Given the description of an element on the screen output the (x, y) to click on. 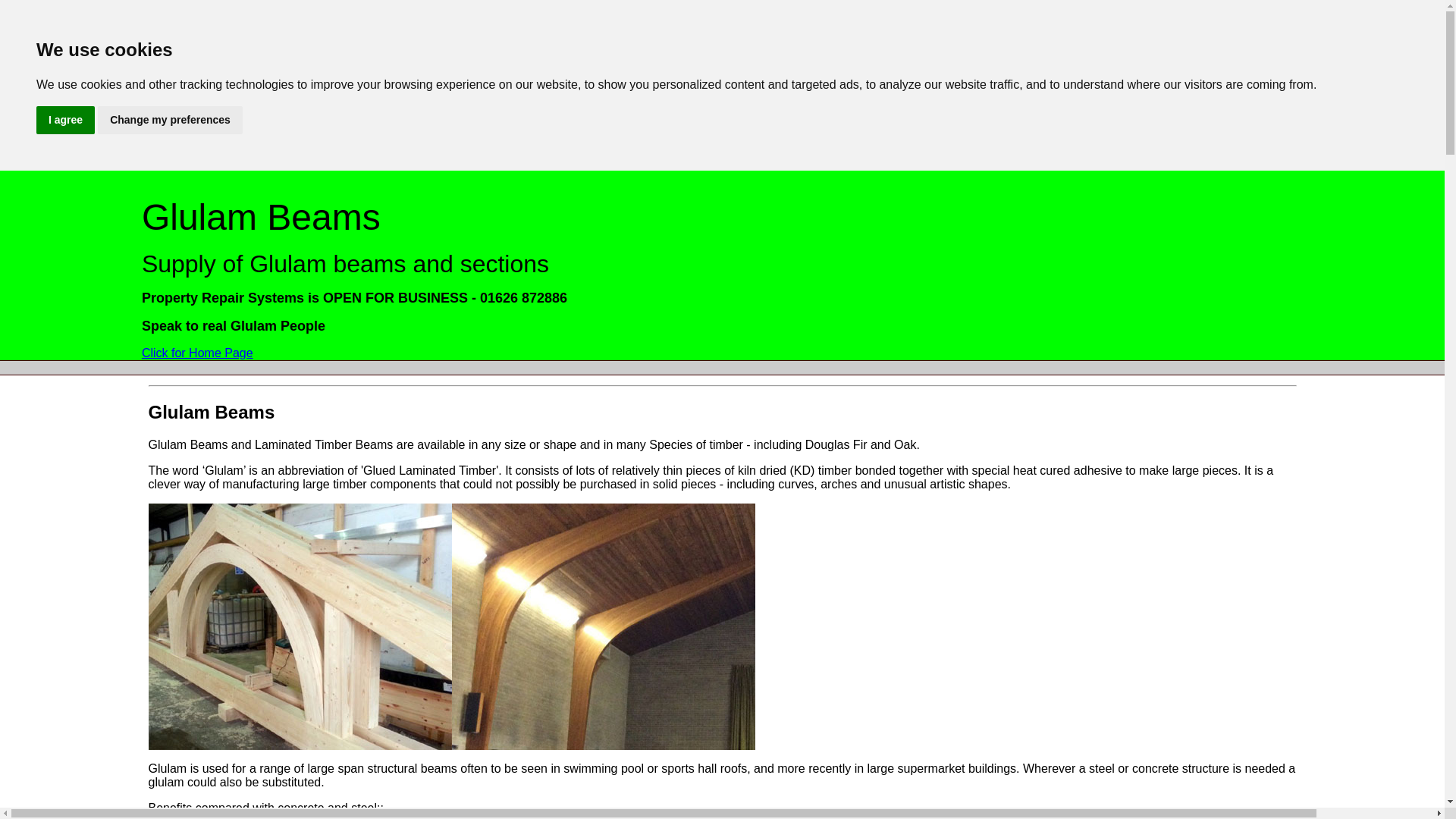
Change my preferences (170, 120)
Click for Home Page (197, 352)
I agree (65, 120)
